Given the description of an element on the screen output the (x, y) to click on. 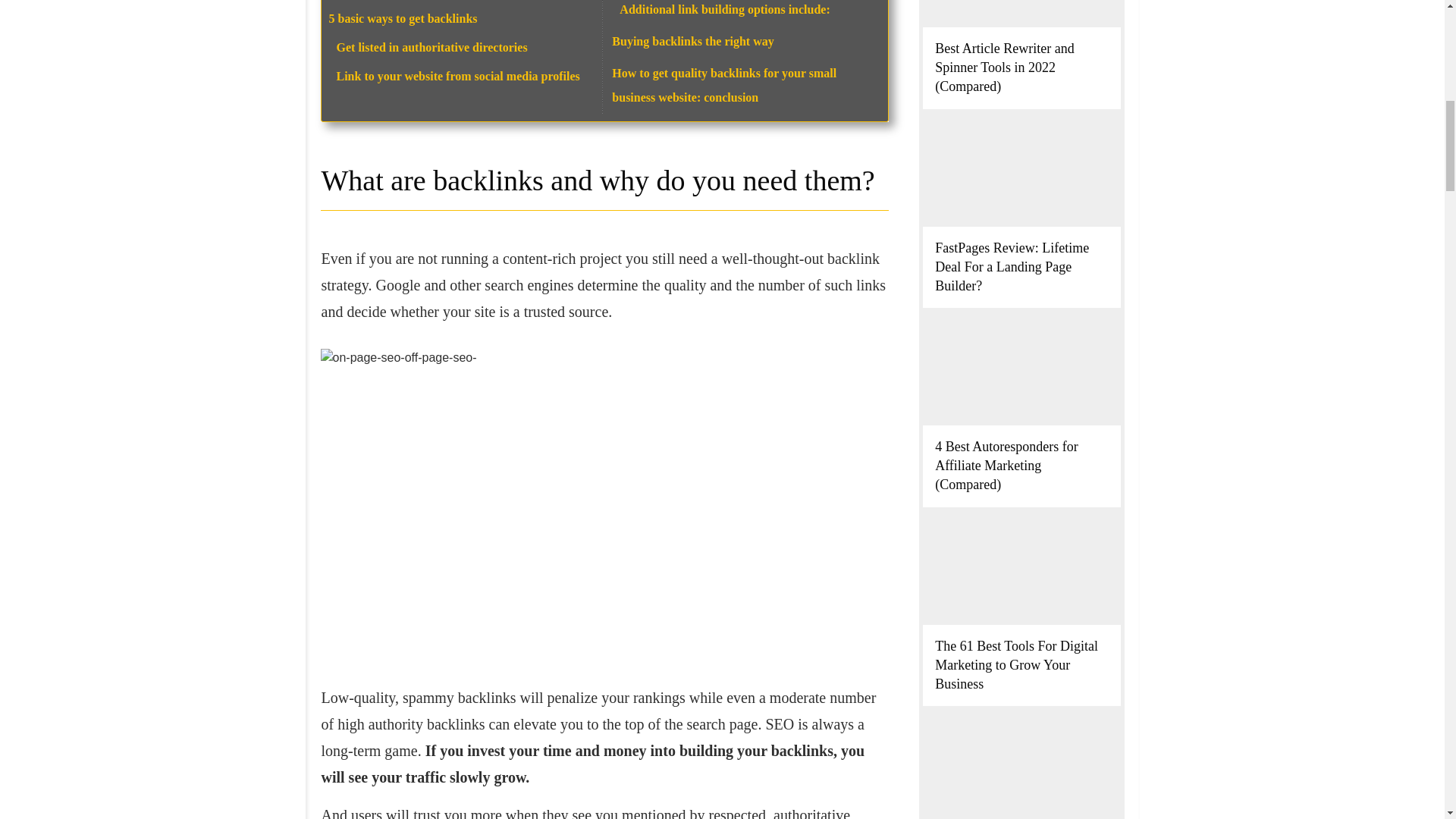
Additional link building options include:  (726, 9)
Link to your website from social media profiles (457, 75)
5 basic ways to get backlinks (403, 18)
FastPages Review: Lifetime Deal For a Landing Page Builder? (1011, 265)
Get listed in authoritative directories (431, 47)
Buying backlinks the right way (692, 41)
